Given the description of an element on the screen output the (x, y) to click on. 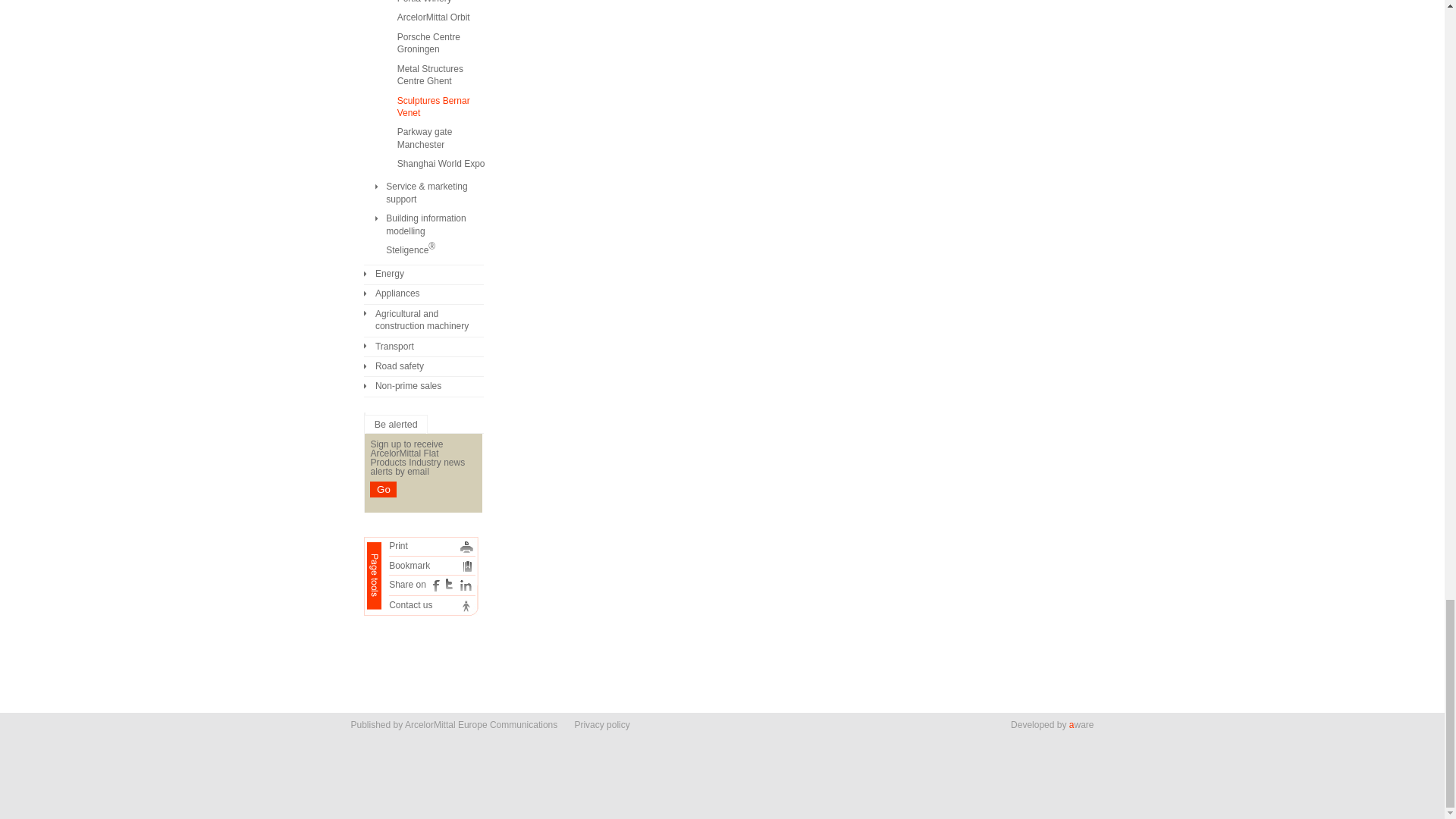
Go (382, 489)
Sculptures Bernar Venet - Industry (469, 566)
